Given the description of an element on the screen output the (x, y) to click on. 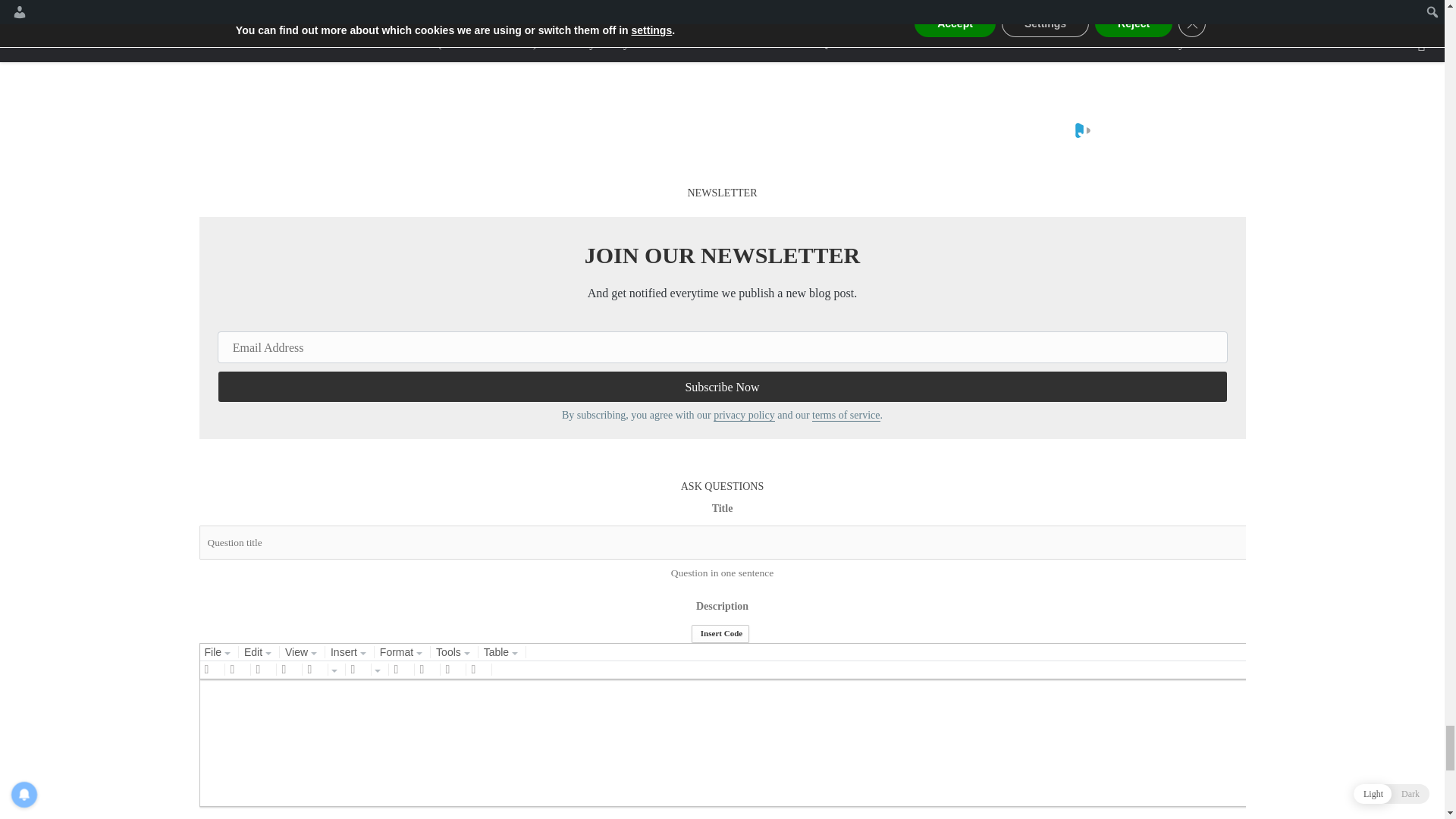
Subscribe Now (721, 386)
